Given the description of an element on the screen output the (x, y) to click on. 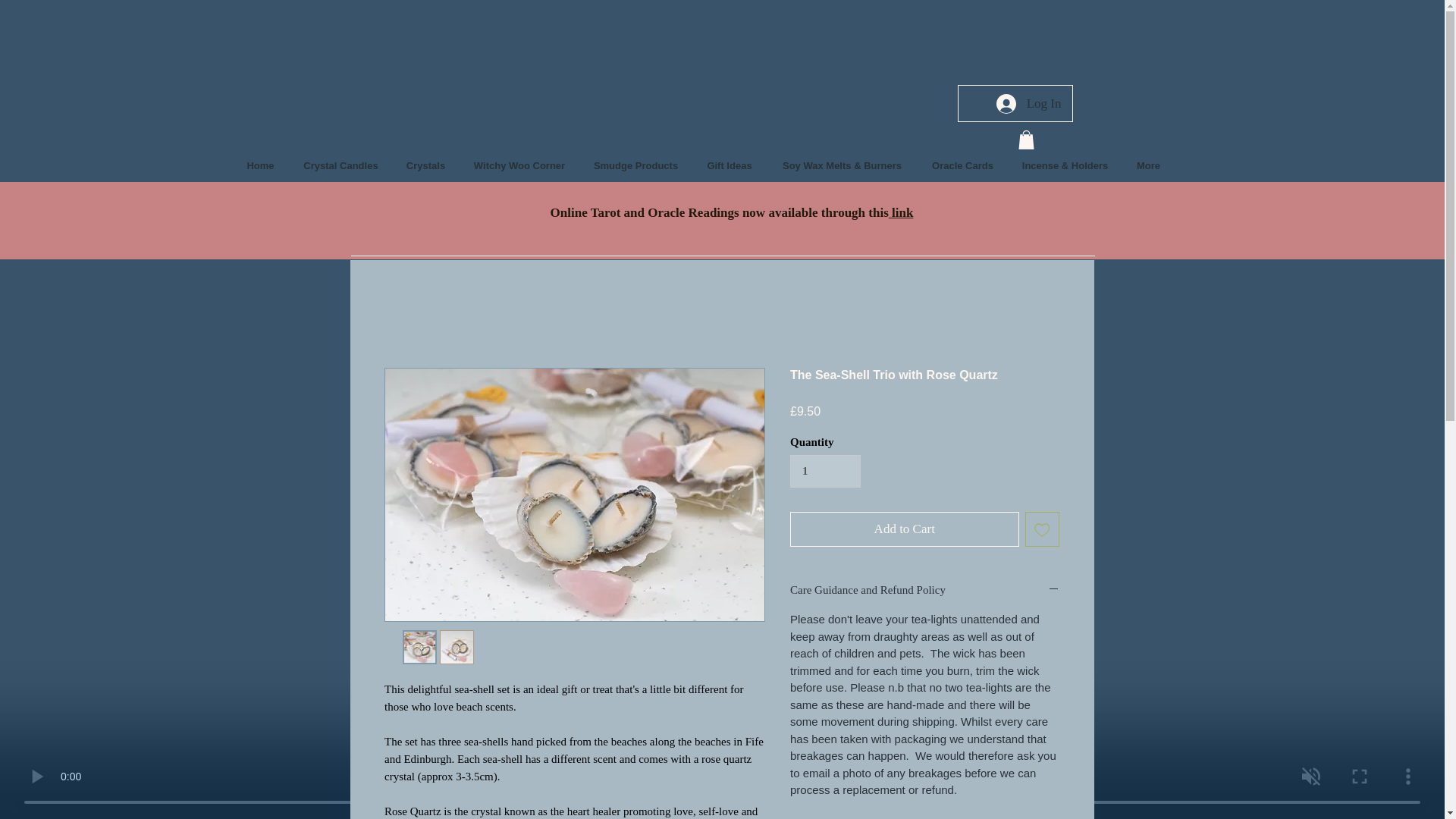
Add to Cart (904, 529)
Smudge Products (635, 165)
Home (260, 165)
Crystal Candles (341, 165)
Log In (1028, 103)
Crystals (426, 165)
link (901, 212)
1 (825, 471)
Oracle Cards (963, 165)
Care Guidance and Refund Policy (924, 590)
